Given the description of an element on the screen output the (x, y) to click on. 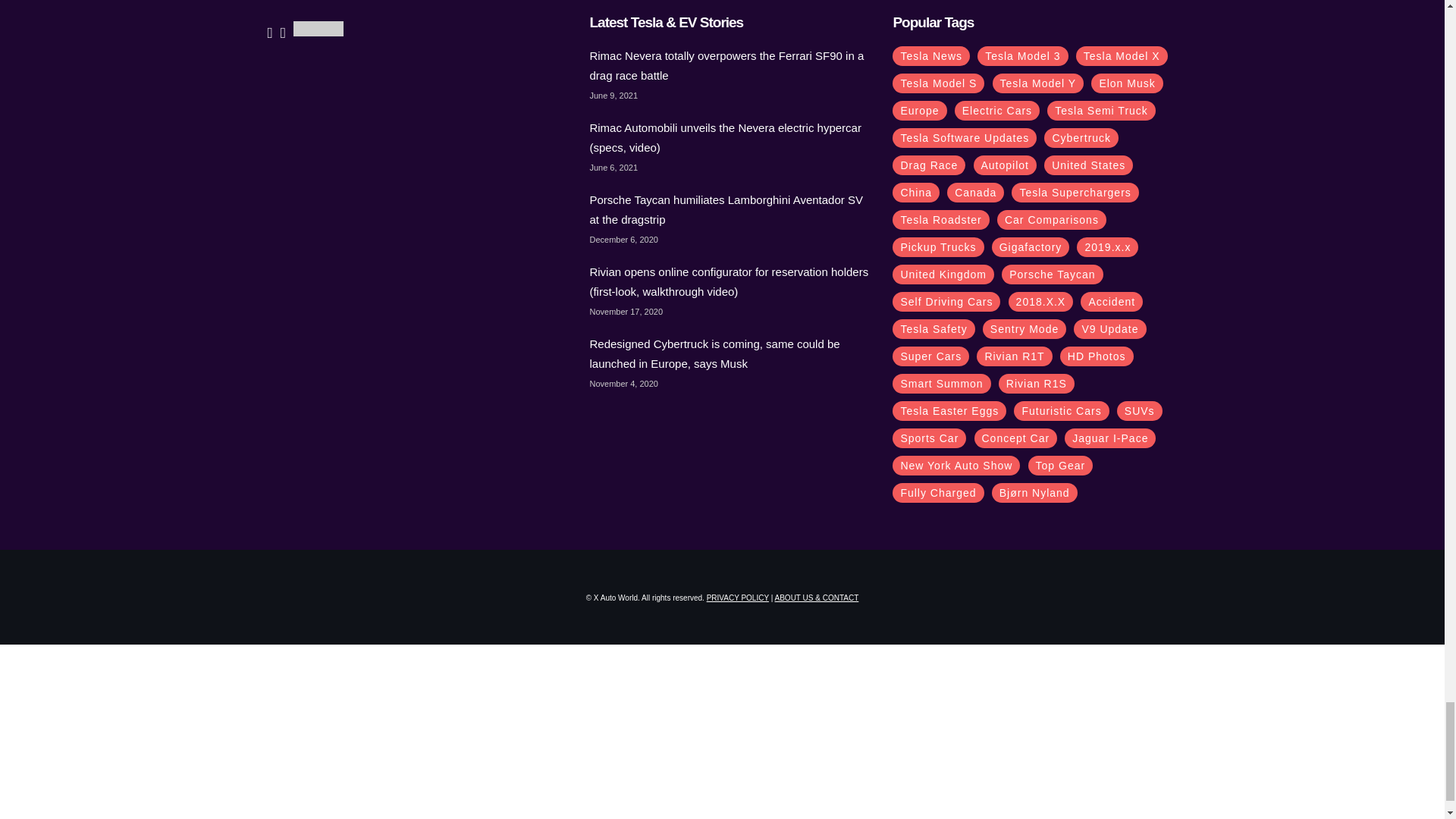
334 topics (1021, 55)
57 topics (1125, 82)
92 topics (1121, 55)
Follow us on Feedly (318, 28)
65 topics (1038, 82)
85 topics (938, 82)
532 topics (930, 55)
